Given the description of an element on the screen output the (x, y) to click on. 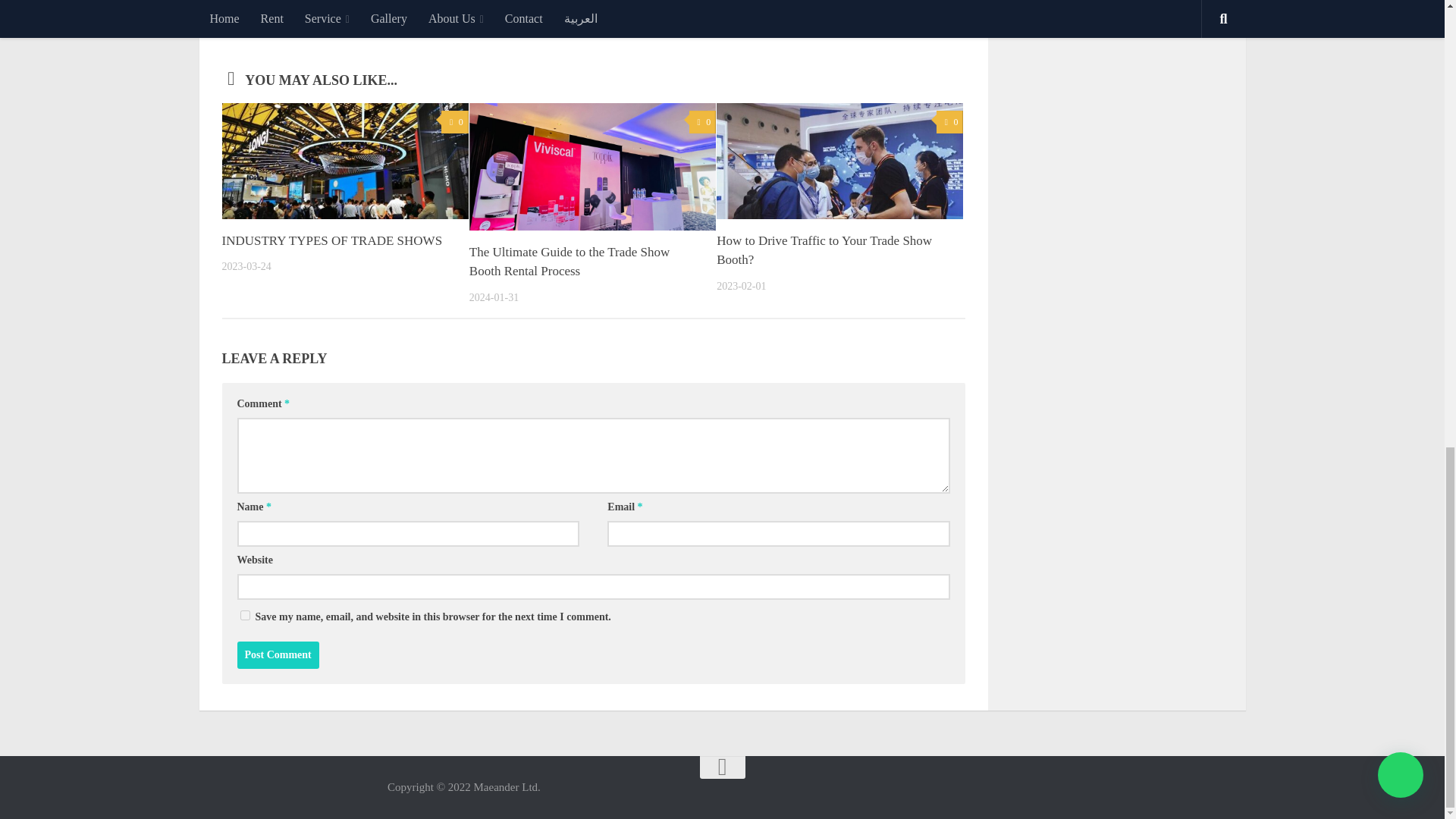
INDUSTRY TYPES OF TRADE SHOWS (331, 240)
0 (454, 122)
0 (702, 122)
The Ultimate Guide to the Trade Show Booth Rental Process (568, 261)
Booth Builders in Dubai (414, 27)
Post Comment (276, 655)
yes (244, 614)
10x10 trade show displays (307, 27)
